Given the description of an element on the screen output the (x, y) to click on. 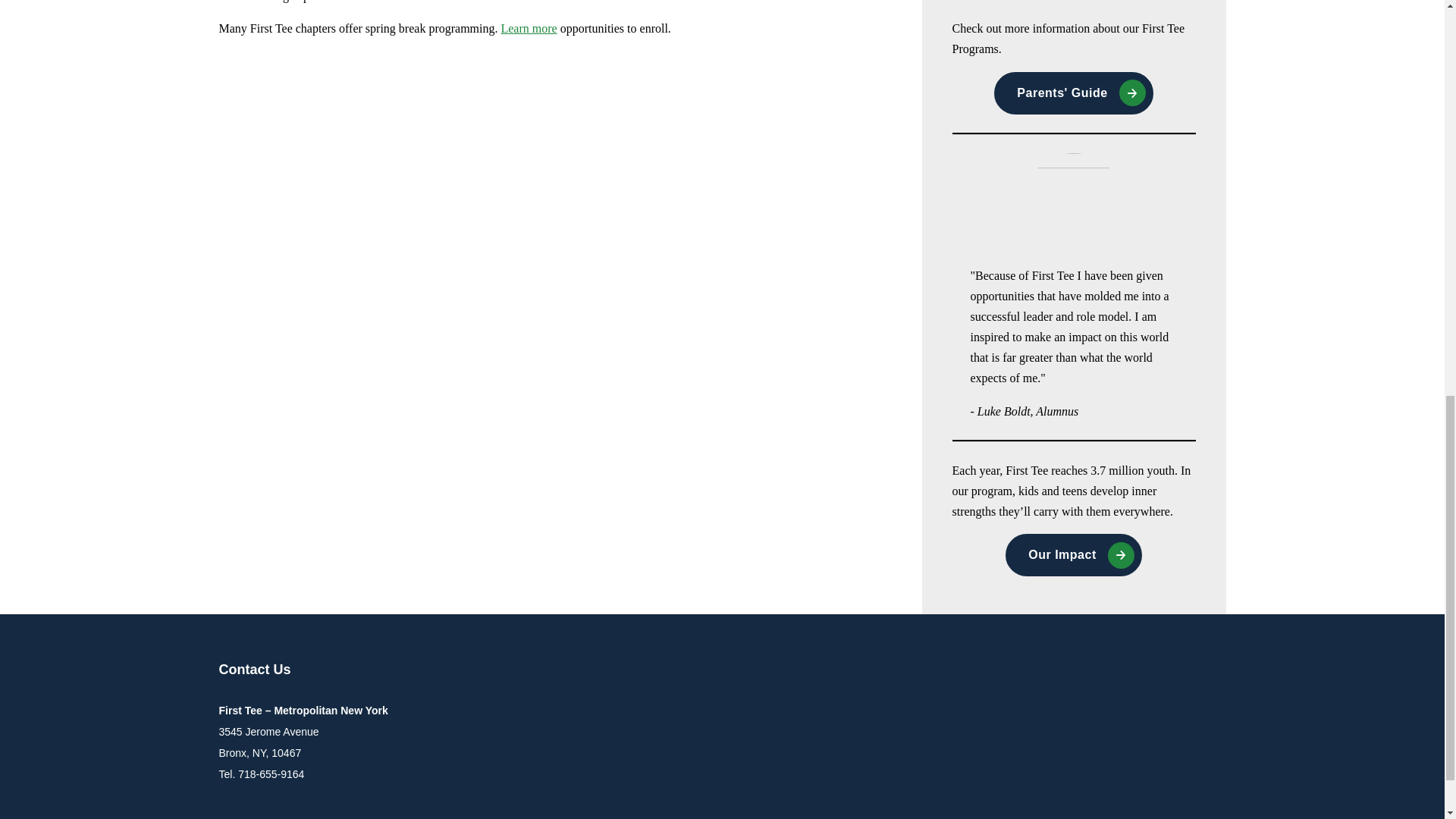
Open facebook in a new window (1171, 670)
Our Impact (1073, 554)
Open youtube in a new window (1202, 670)
Parents' Guide (1073, 93)
Learn more (528, 28)
Open twitter in a new window (1142, 670)
Open instagram in a new window (1111, 670)
